Given the description of an element on the screen output the (x, y) to click on. 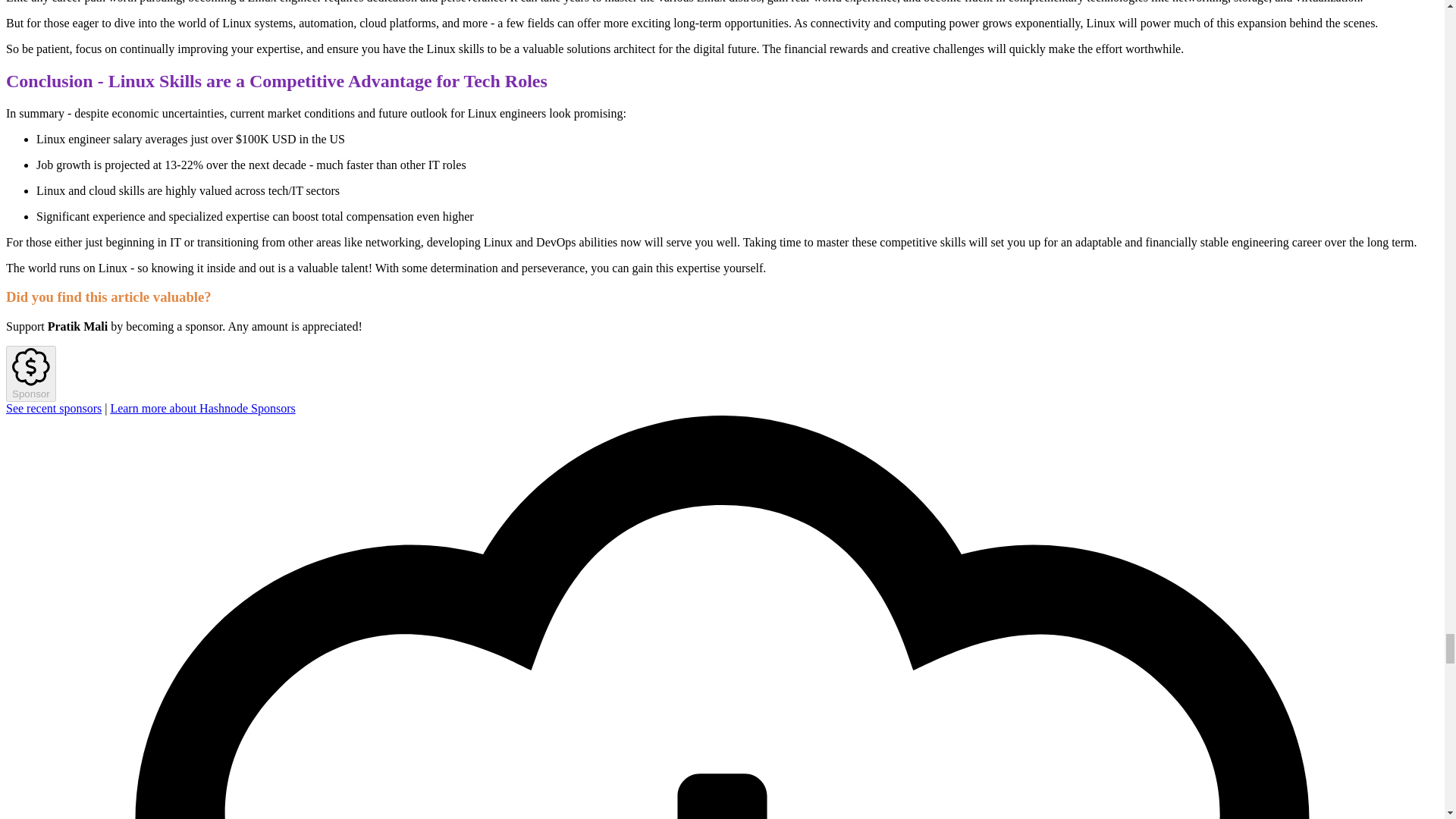
See recent sponsors (53, 408)
Sponsor (30, 373)
Learn more about Hashnode Sponsors (202, 408)
